Given the description of an element on the screen output the (x, y) to click on. 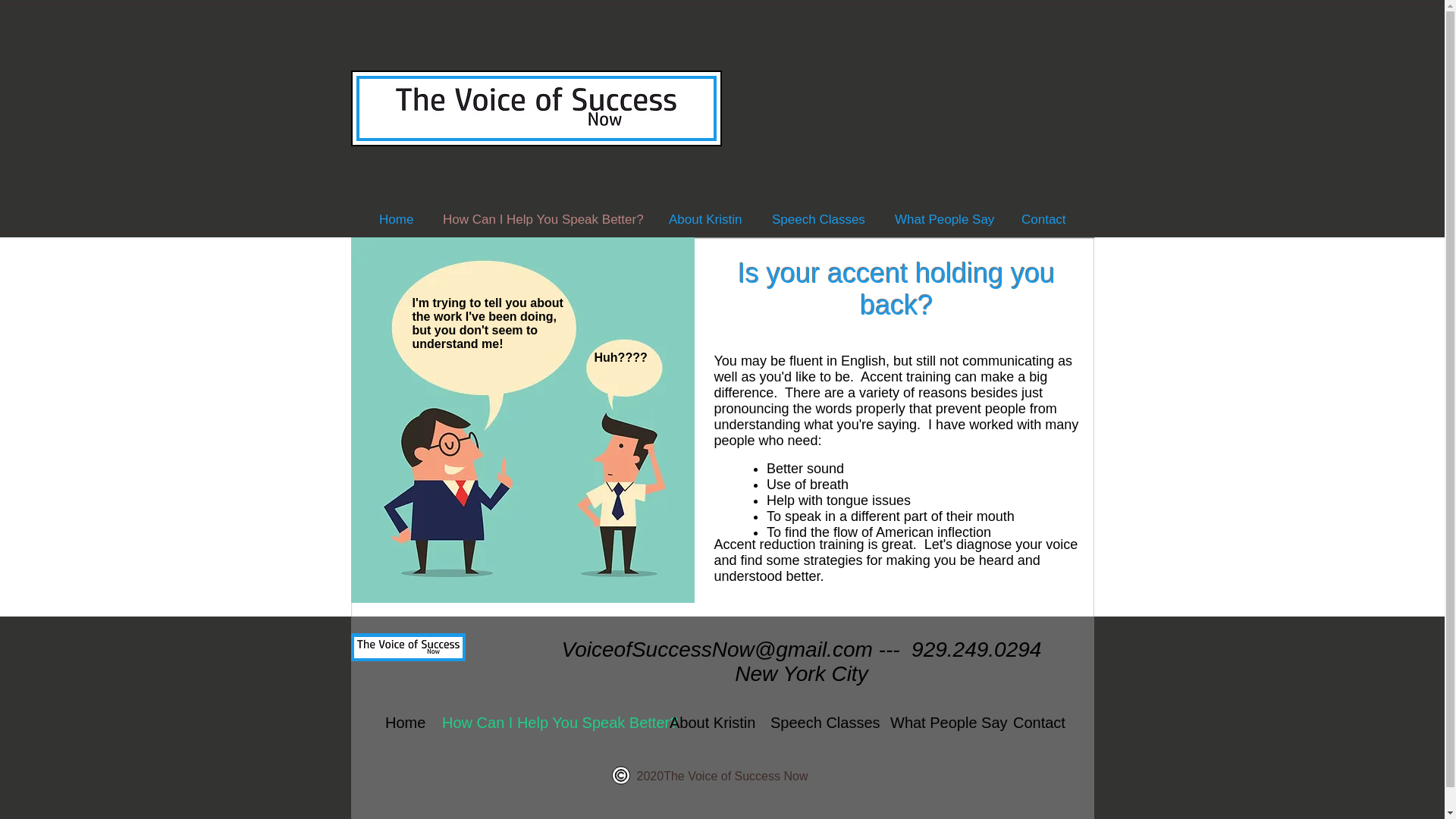
Speech Classes (818, 722)
About Kristin (705, 219)
Contact (1043, 219)
HiRes.jpg (522, 419)
What People Say (940, 722)
How Can I Help You Speak Better? (540, 219)
Home (396, 219)
What People Say (942, 219)
About Kristin (708, 722)
Speech Classes (818, 219)
How Can I Help You Speak Better? (544, 722)
Home (402, 722)
929.249.0294 (976, 649)
Contact (1035, 722)
